Given the description of an element on the screen output the (x, y) to click on. 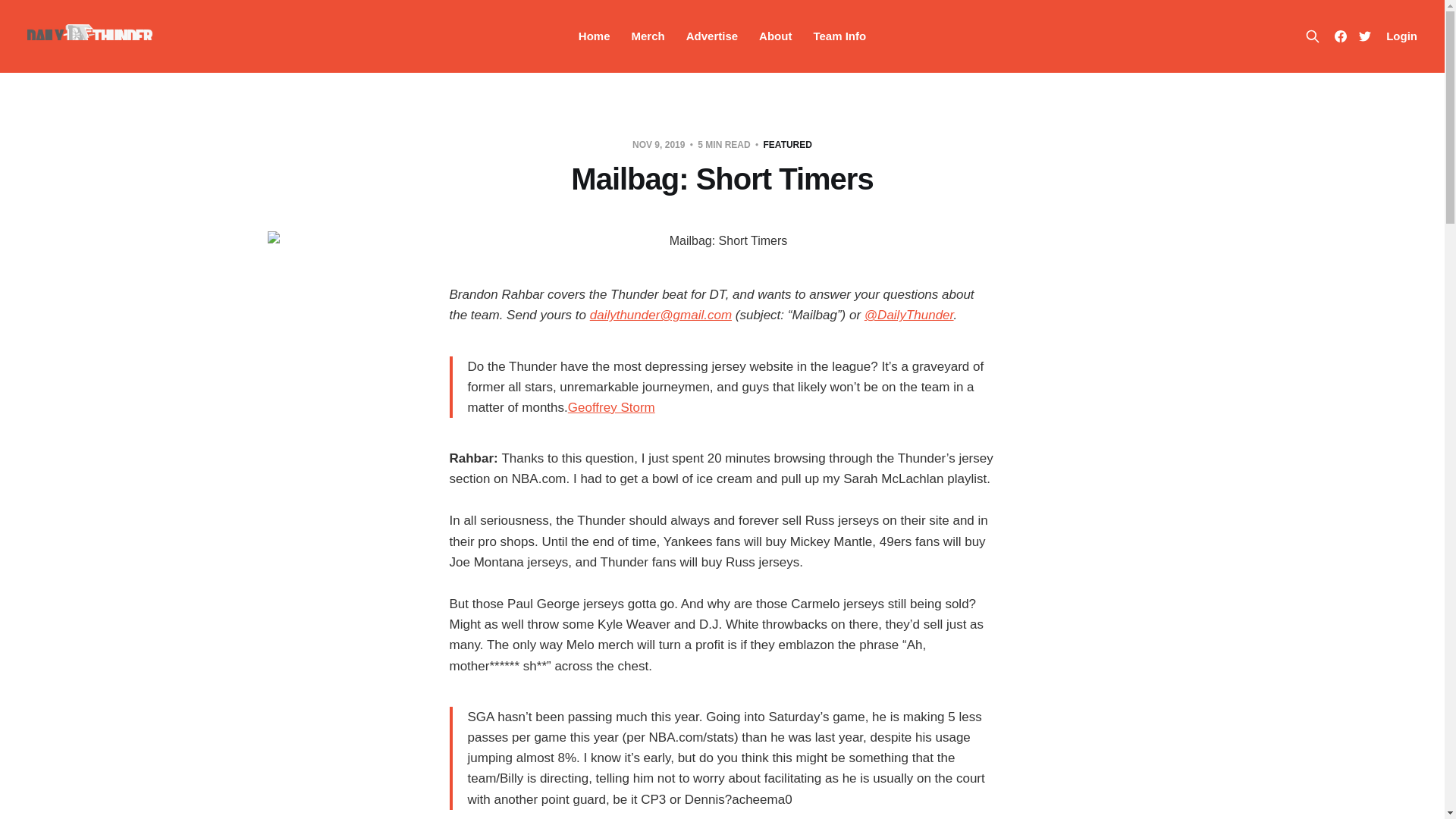
FEATURED (787, 144)
Advertise (711, 35)
About (775, 35)
Merch (648, 35)
Team Info (839, 35)
Home (594, 35)
Login (1401, 36)
Geoffrey Storm (611, 407)
